Given the description of an element on the screen output the (x, y) to click on. 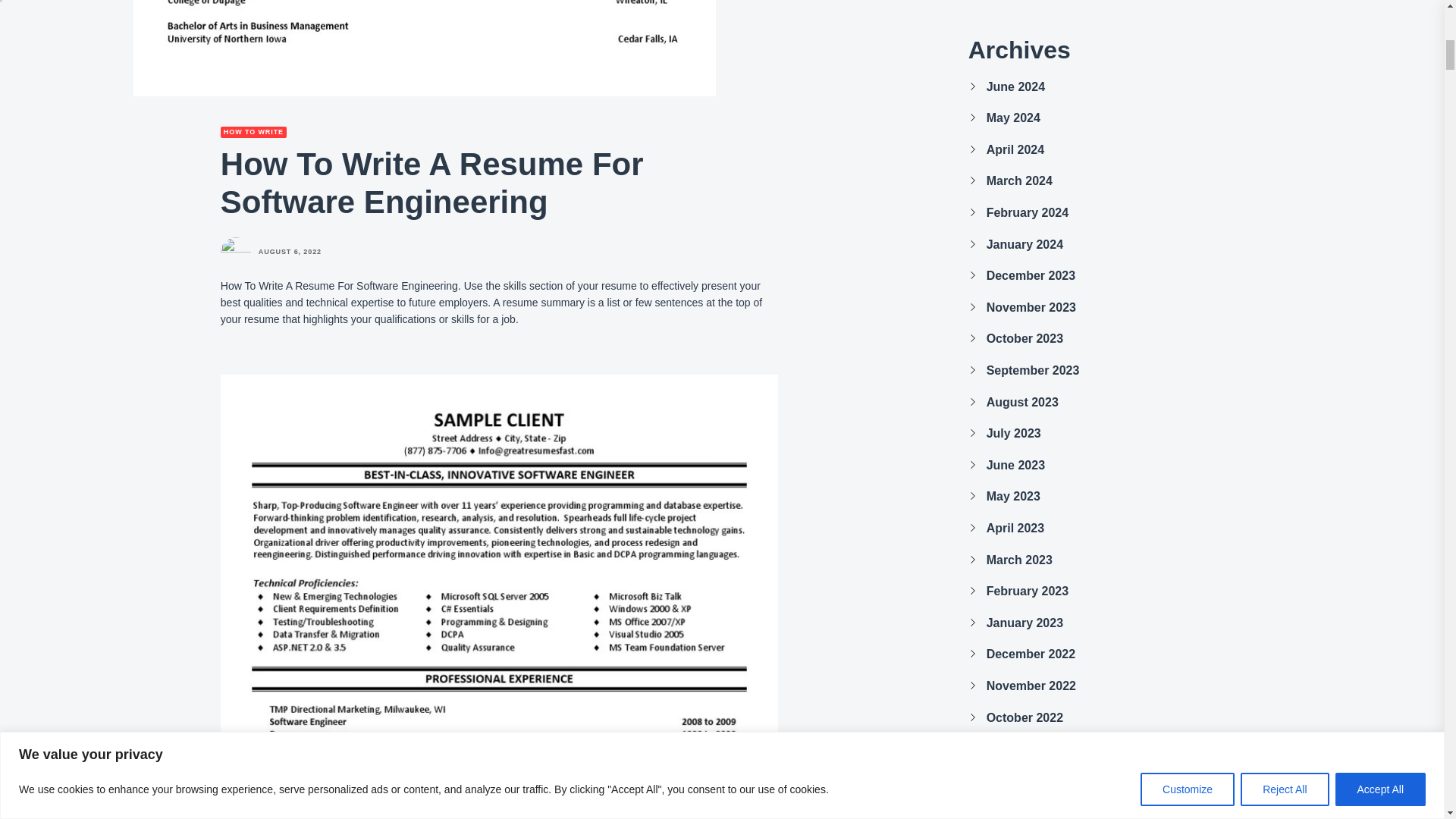
AUGUST 6, 2022 (290, 251)
How To Write A Resume For Software Engineering (424, 48)
HOW TO WRITE (253, 132)
